Given the description of an element on the screen output the (x, y) to click on. 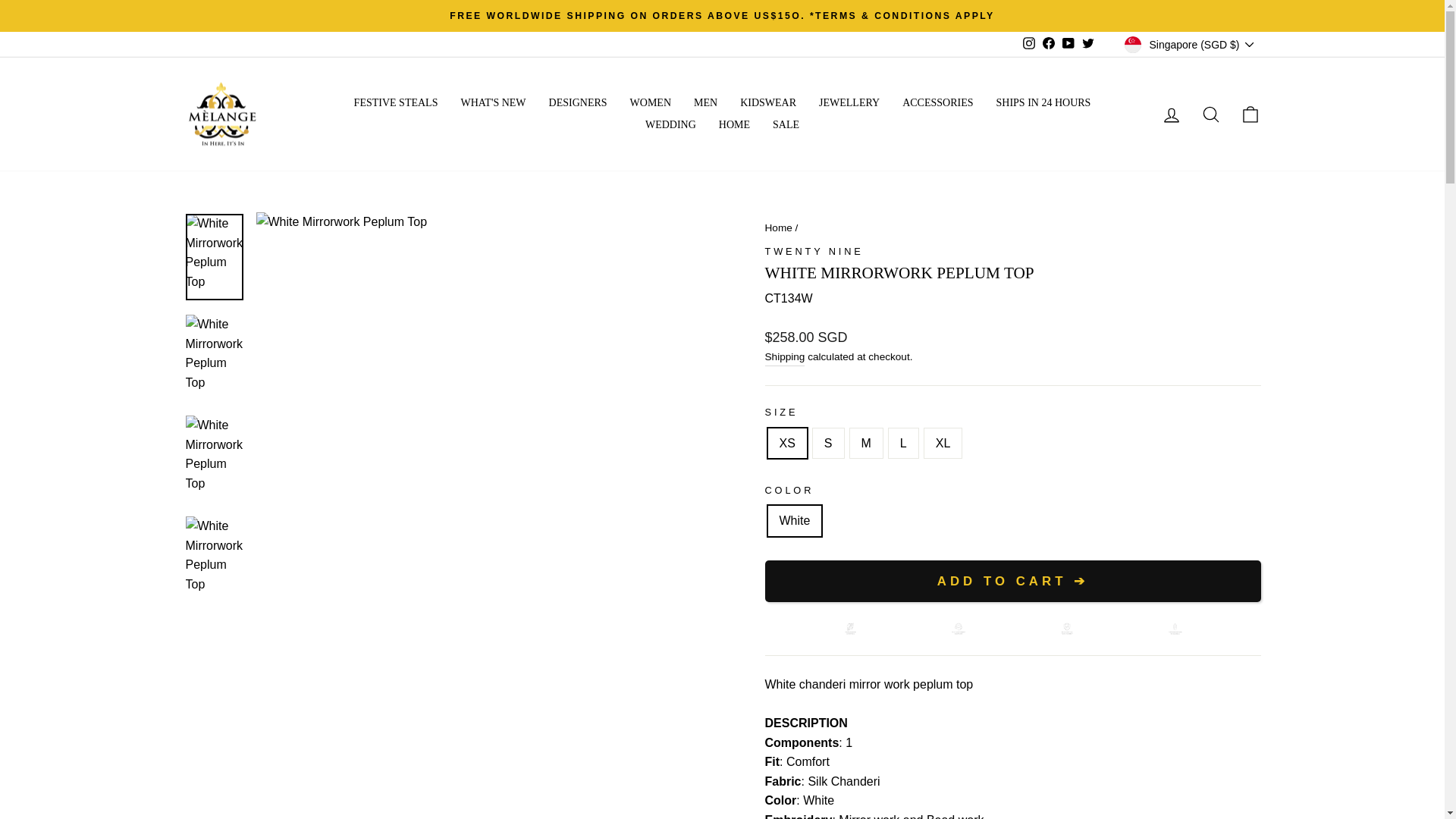
Back to the frontpage (778, 227)
